Given the description of an element on the screen output the (x, y) to click on. 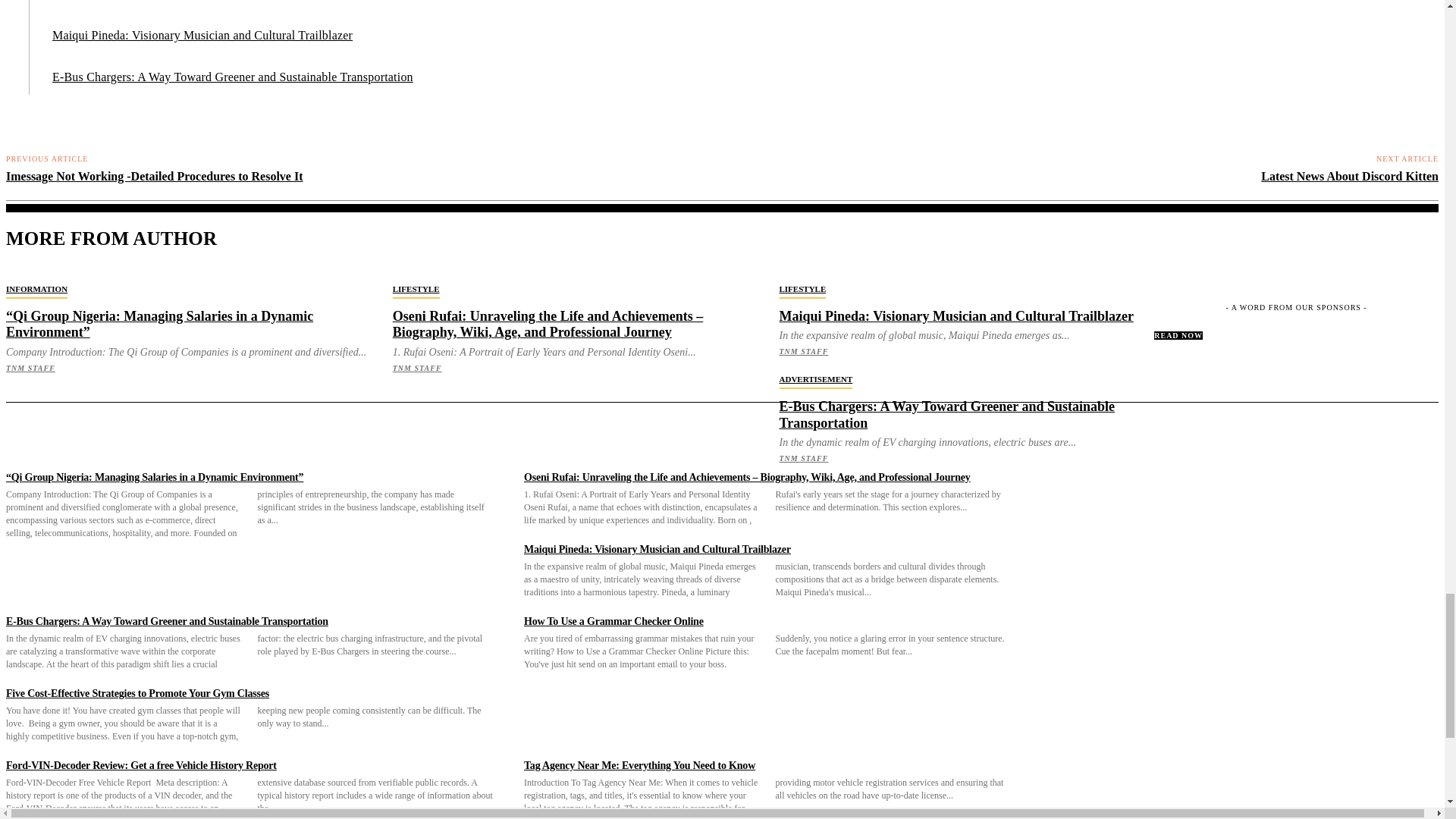
Maiqui Pineda: Visionary Musician and Cultural Trailblazer (202, 34)
Maiqui Pineda: Visionary Musician and Cultural Trailblazer (202, 34)
